Given the description of an element on the screen output the (x, y) to click on. 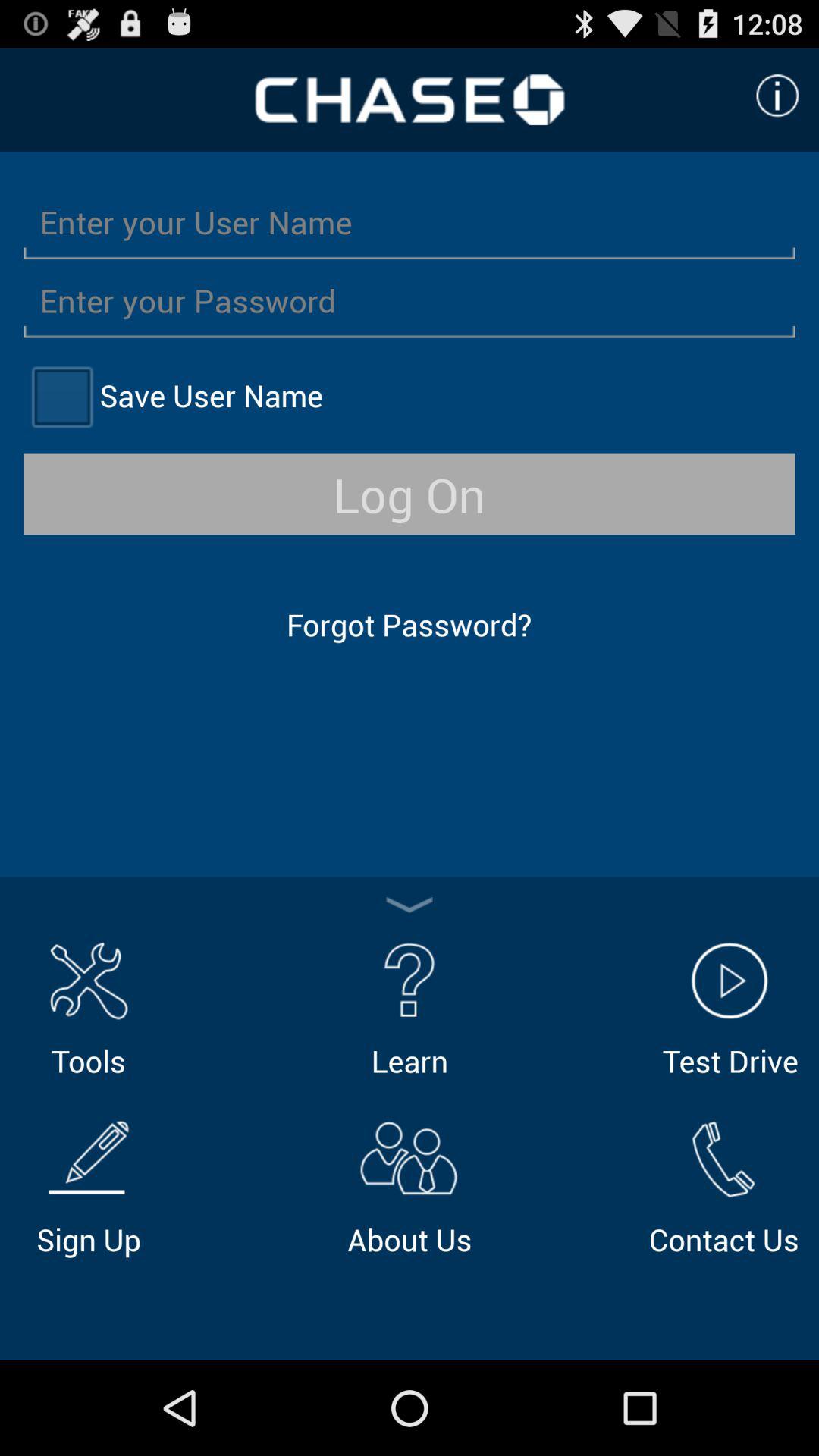
type user name (409, 221)
